Given the description of an element on the screen output the (x, y) to click on. 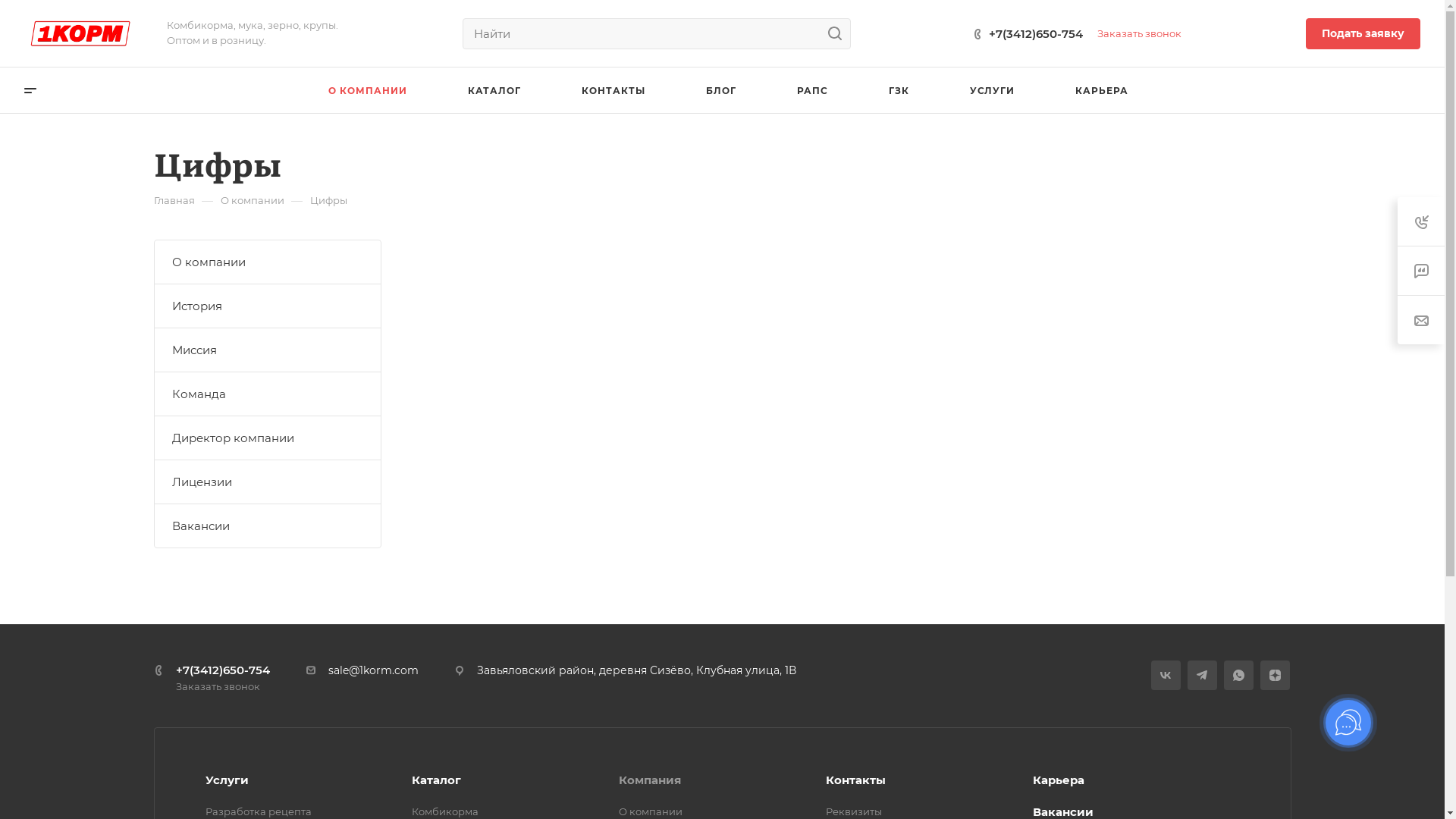
Telegram Element type: hover (1202, 674)
+7(3412)650-754 Element type: text (222, 669)
sale@1korm.com Element type: text (372, 670)
Whats App Element type: hover (1238, 674)
+7(3412)650-754 Element type: text (1035, 33)
